Given the description of an element on the screen output the (x, y) to click on. 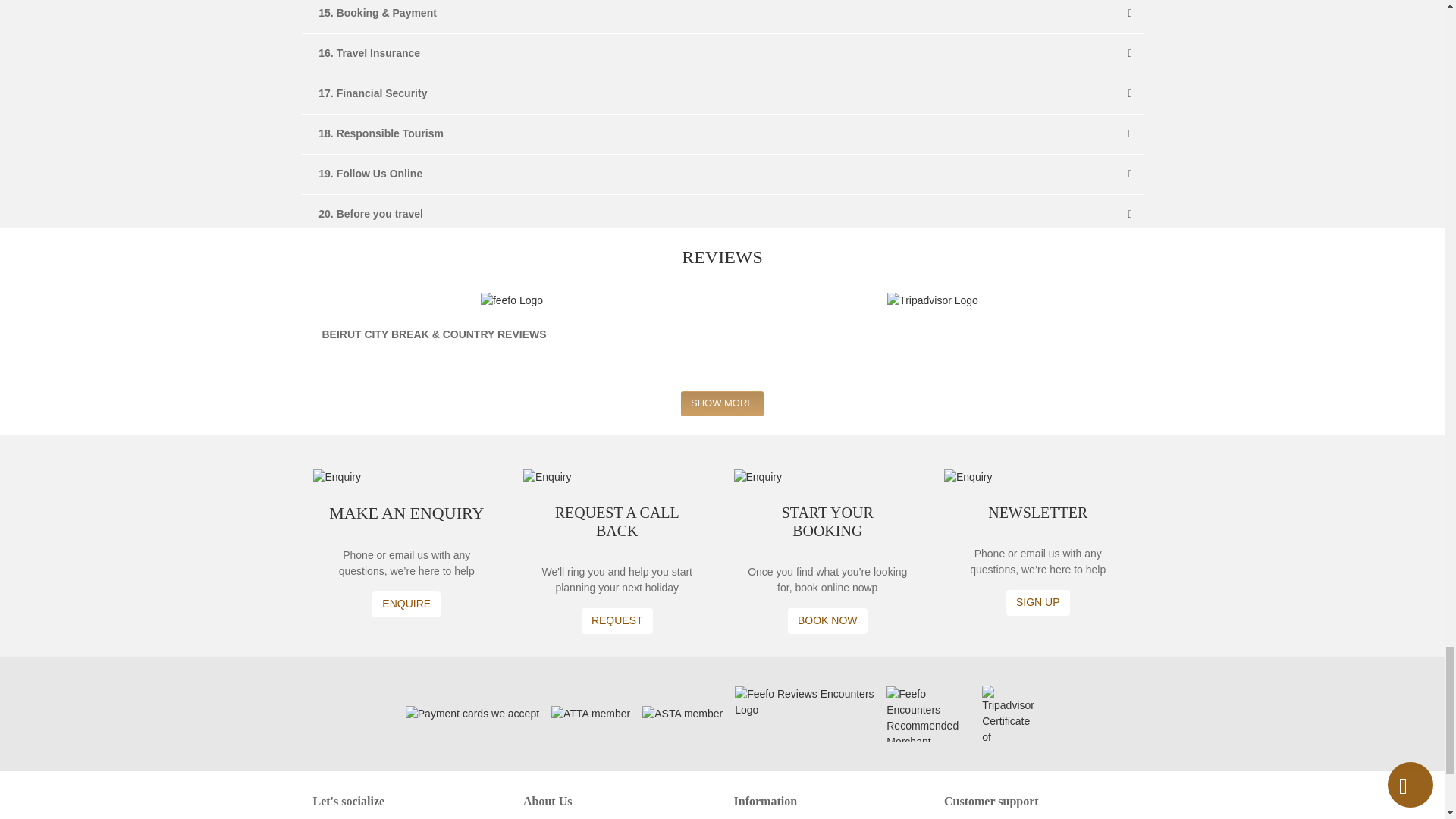
Newsletter sign up (1038, 602)
Start your booking (827, 620)
Show More (721, 403)
Make an enquiry (406, 604)
Request a call back (616, 620)
